Given the description of an element on the screen output the (x, y) to click on. 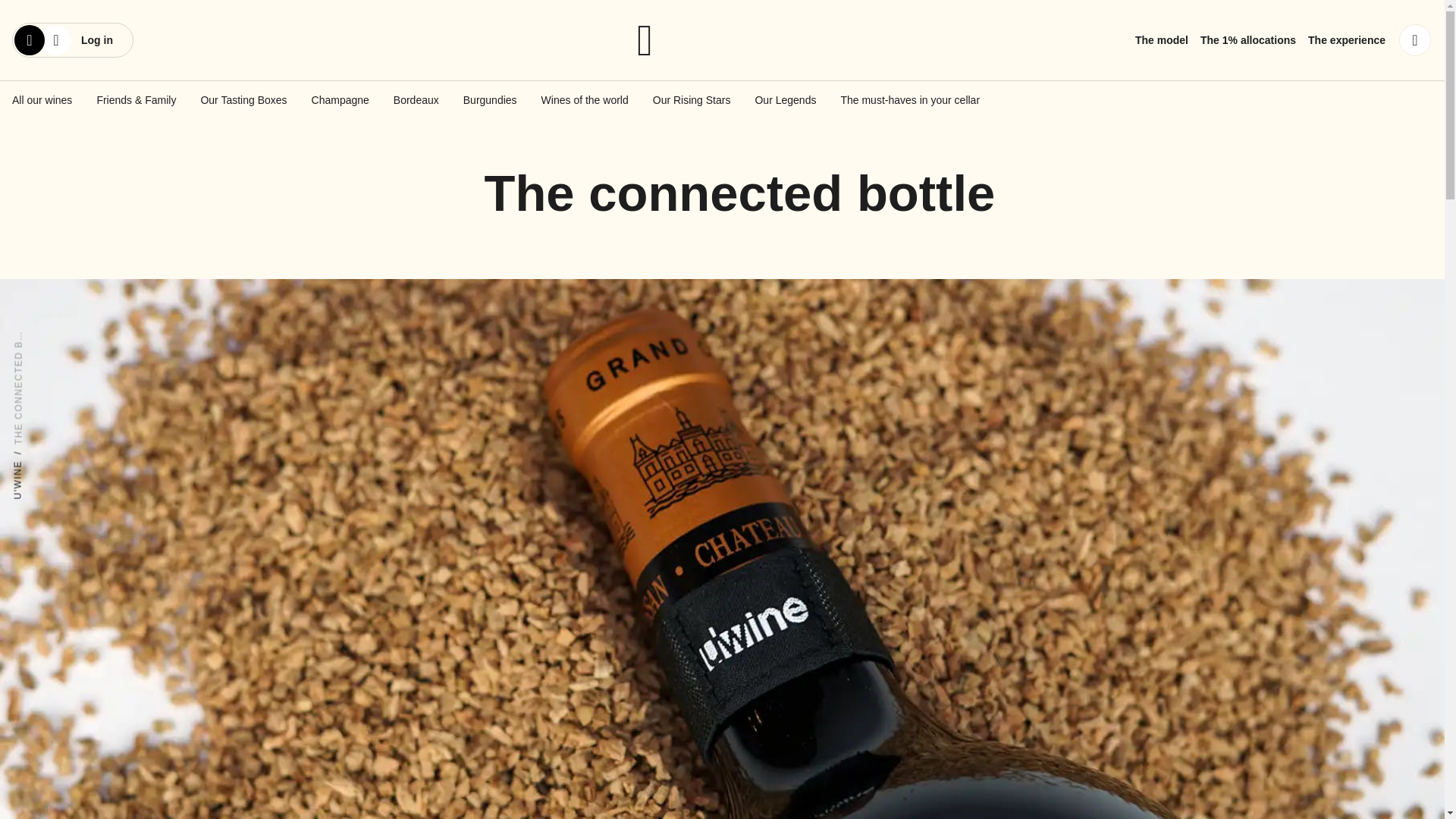
The experience (1346, 39)
U'wine (722, 40)
Bordeaux (416, 100)
Burgundies (489, 100)
U'WINE (31, 465)
Wines of the world (584, 100)
Our Rising Stars (691, 100)
Champagne (340, 100)
The must-haves in your cellar (909, 100)
Our Tasting Boxes (243, 100)
Our Legends (784, 100)
Log in (64, 40)
All our wines (41, 100)
The model (1161, 39)
